Given the description of an element on the screen output the (x, y) to click on. 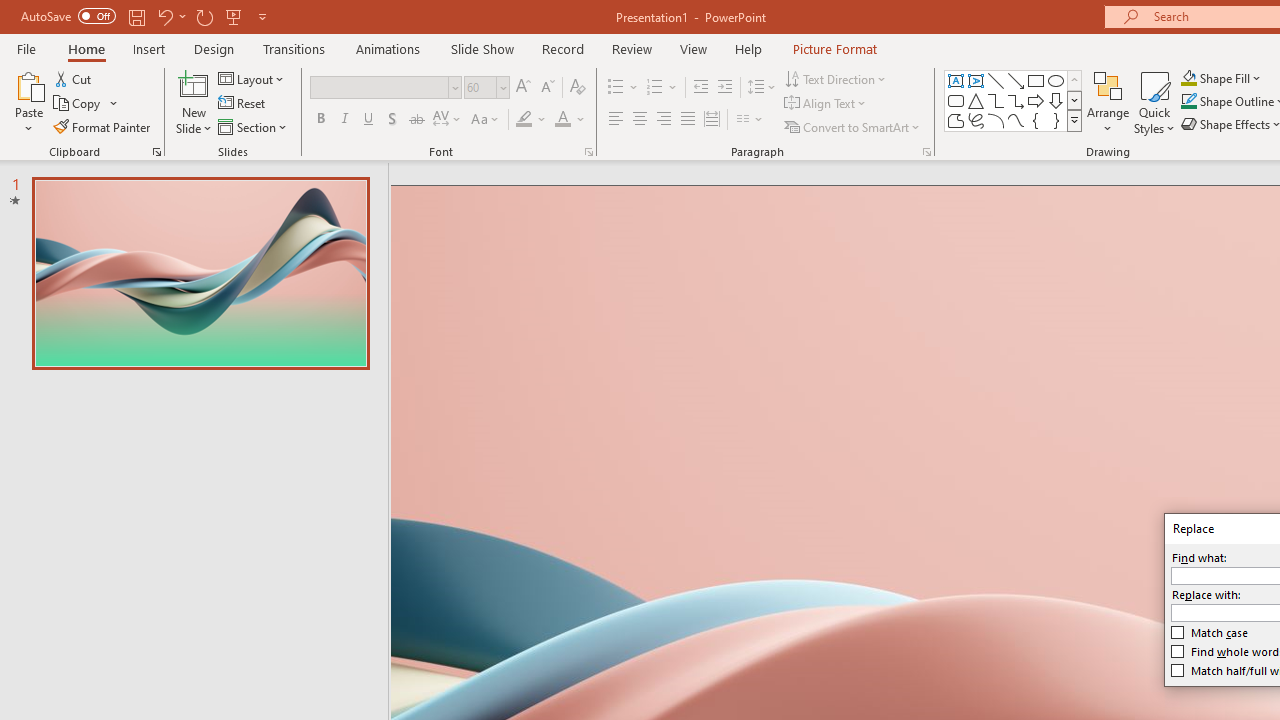
Picture Format (834, 48)
